Given the description of an element on the screen output the (x, y) to click on. 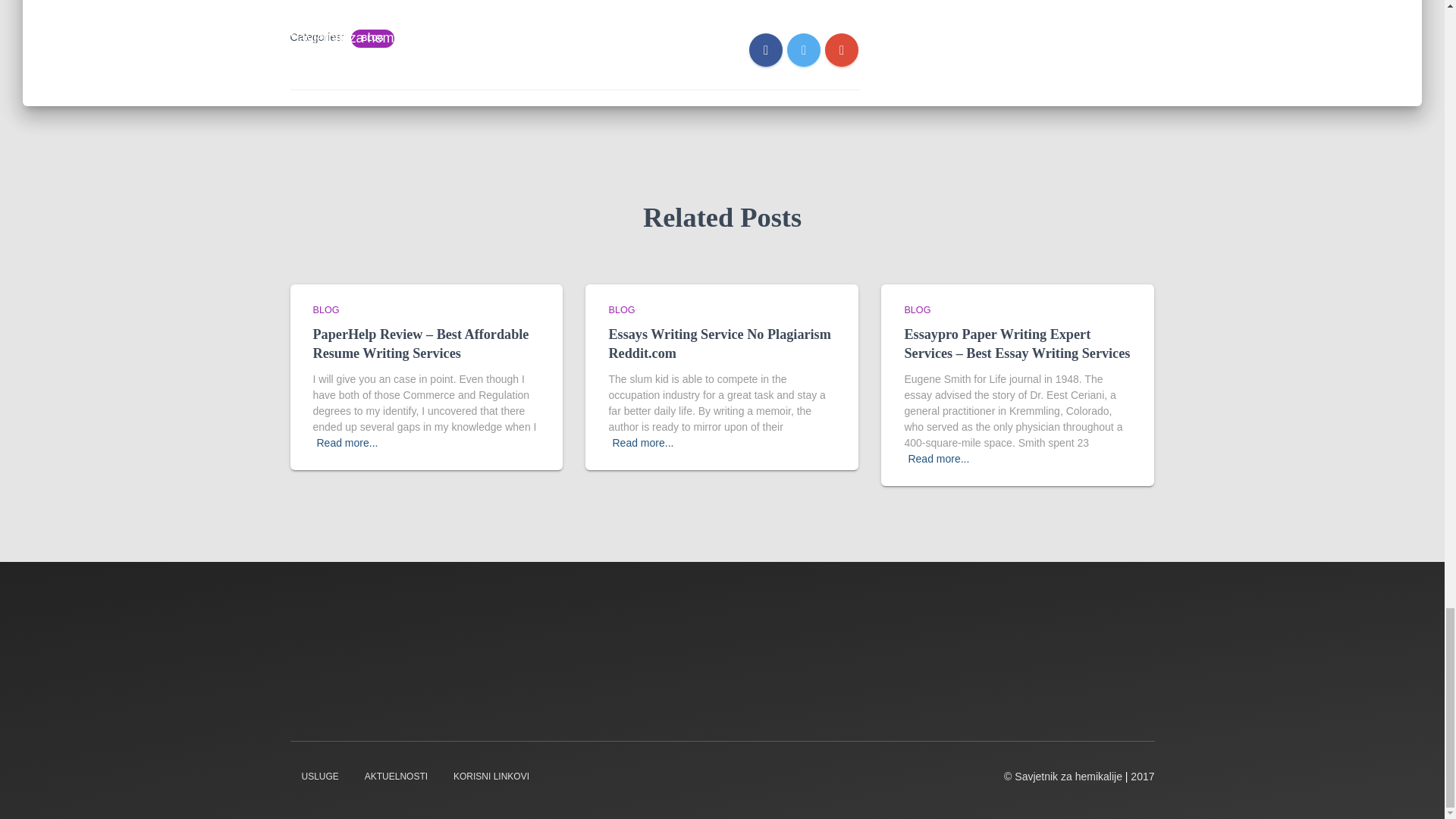
Essays Writing Service No Plagiarism Reddit.com (718, 343)
2017 (1142, 776)
BLOG (372, 38)
View all posts in blog (621, 309)
KORISNI LINKOVI (491, 776)
USLUGE (319, 776)
Read more... (347, 442)
View all posts in blog (917, 309)
Essays Writing Service No Plagiarism Reddit.com (718, 343)
Read more... (641, 442)
